Given the description of an element on the screen output the (x, y) to click on. 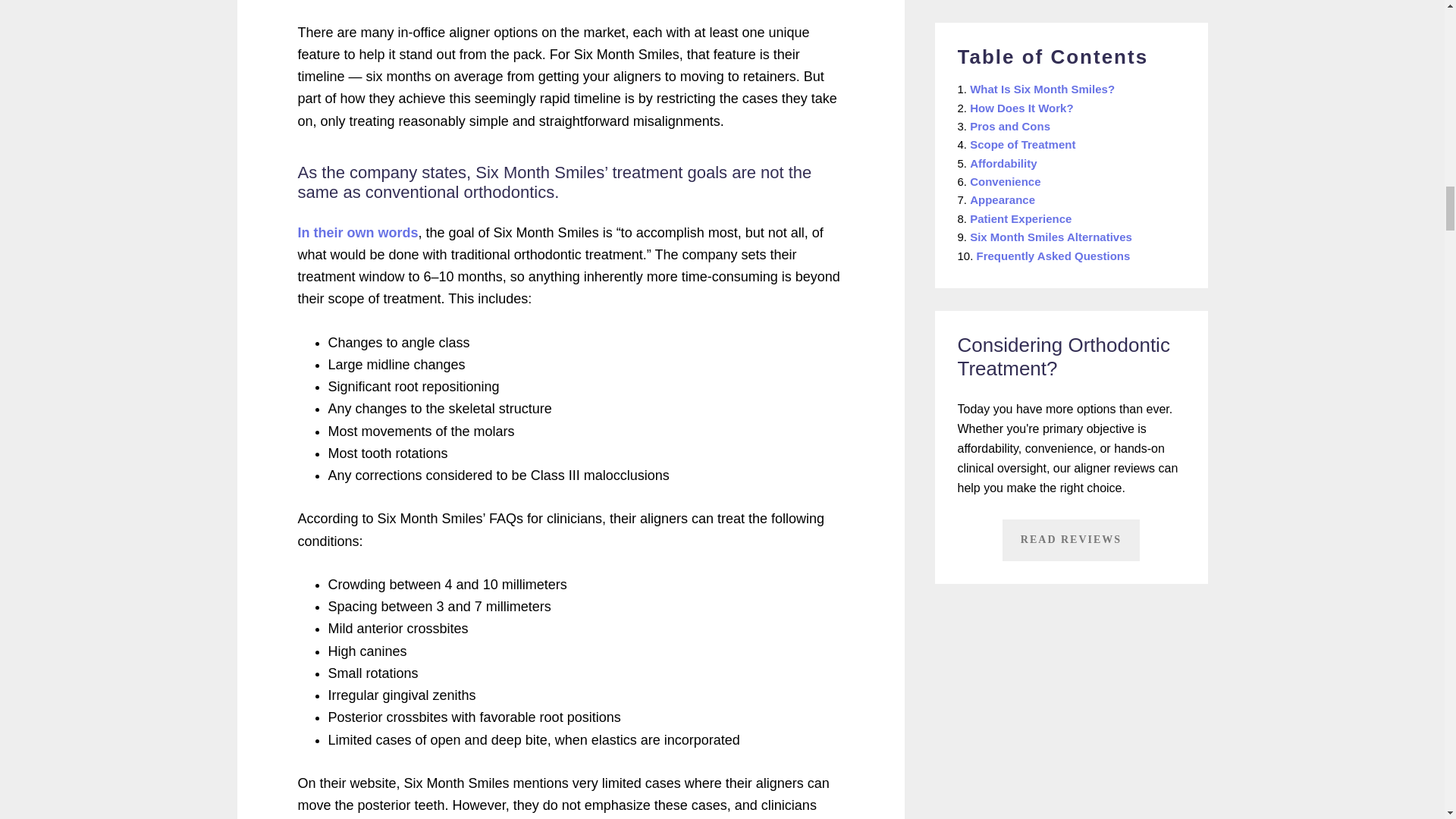
In their own words (357, 232)
